Given the description of an element on the screen output the (x, y) to click on. 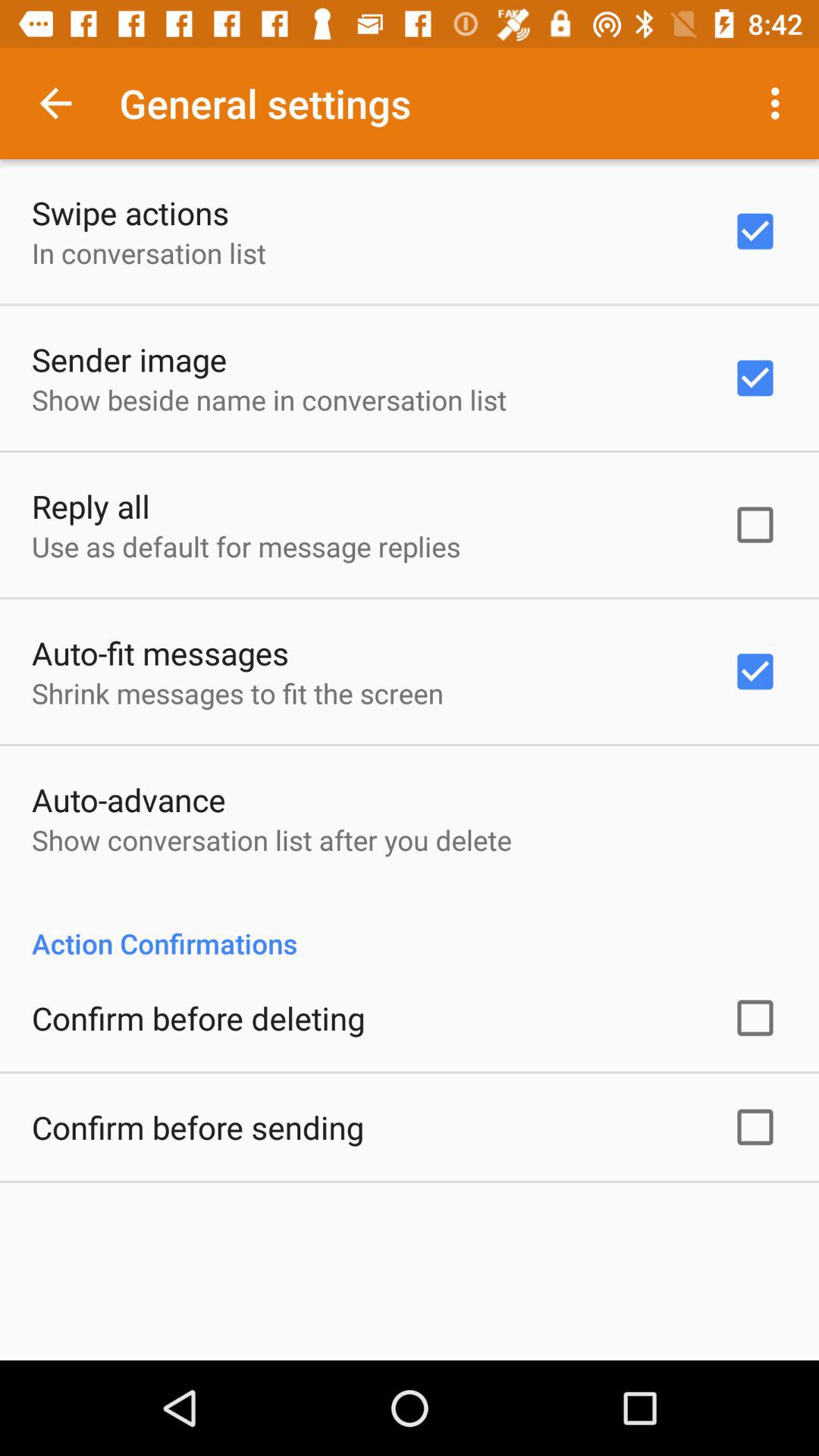
tap icon to the left of general settings (55, 103)
